Given the description of an element on the screen output the (x, y) to click on. 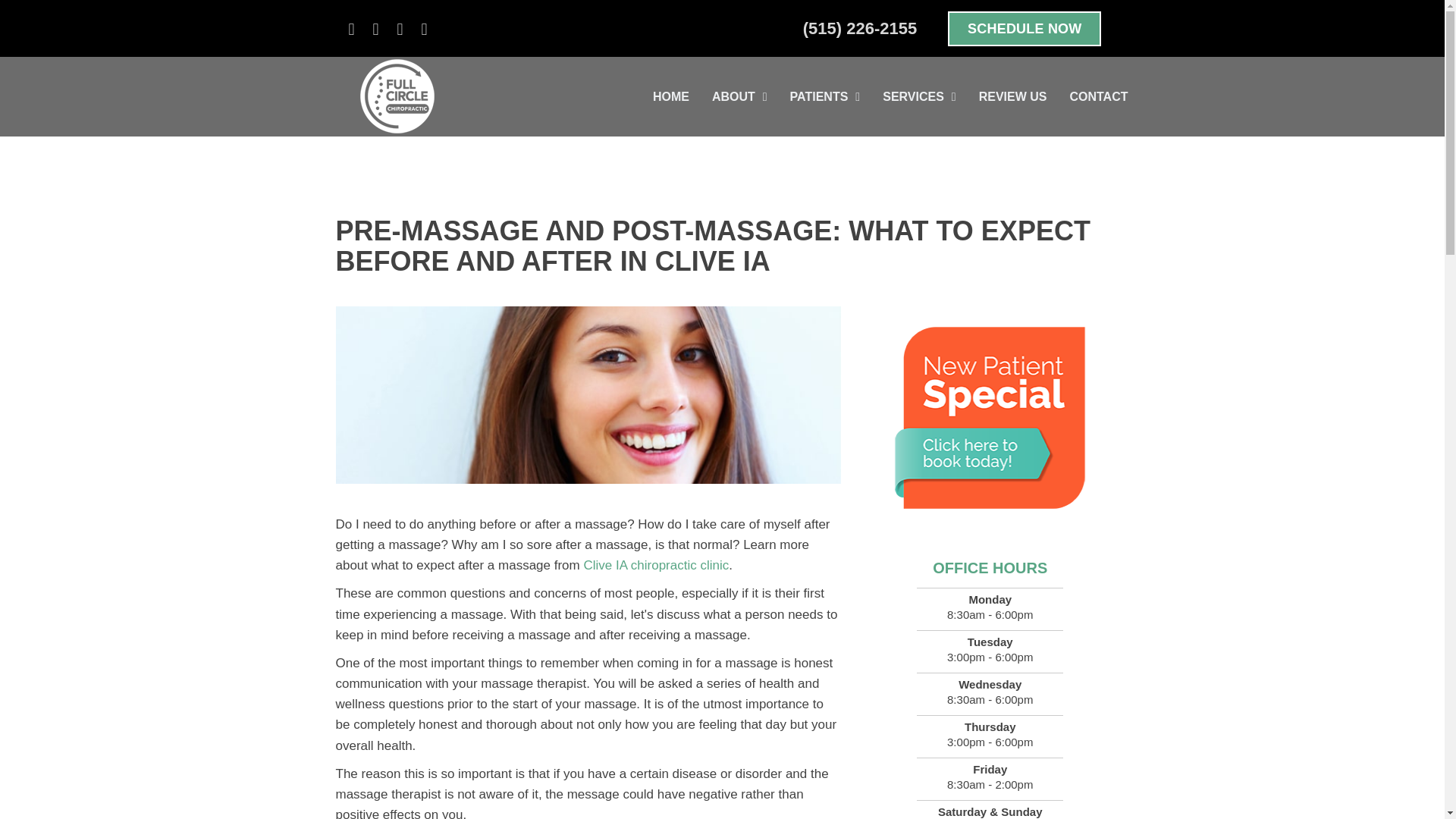
ABOUT (739, 96)
HOME (671, 96)
Chiropractic Clive IA Full Circle Chiropractic Logo (396, 96)
SCHEDULE NOW (1023, 28)
PATIENTS (825, 96)
Chiropractic Clive IA Massage What To Expect (587, 394)
